Given the description of an element on the screen output the (x, y) to click on. 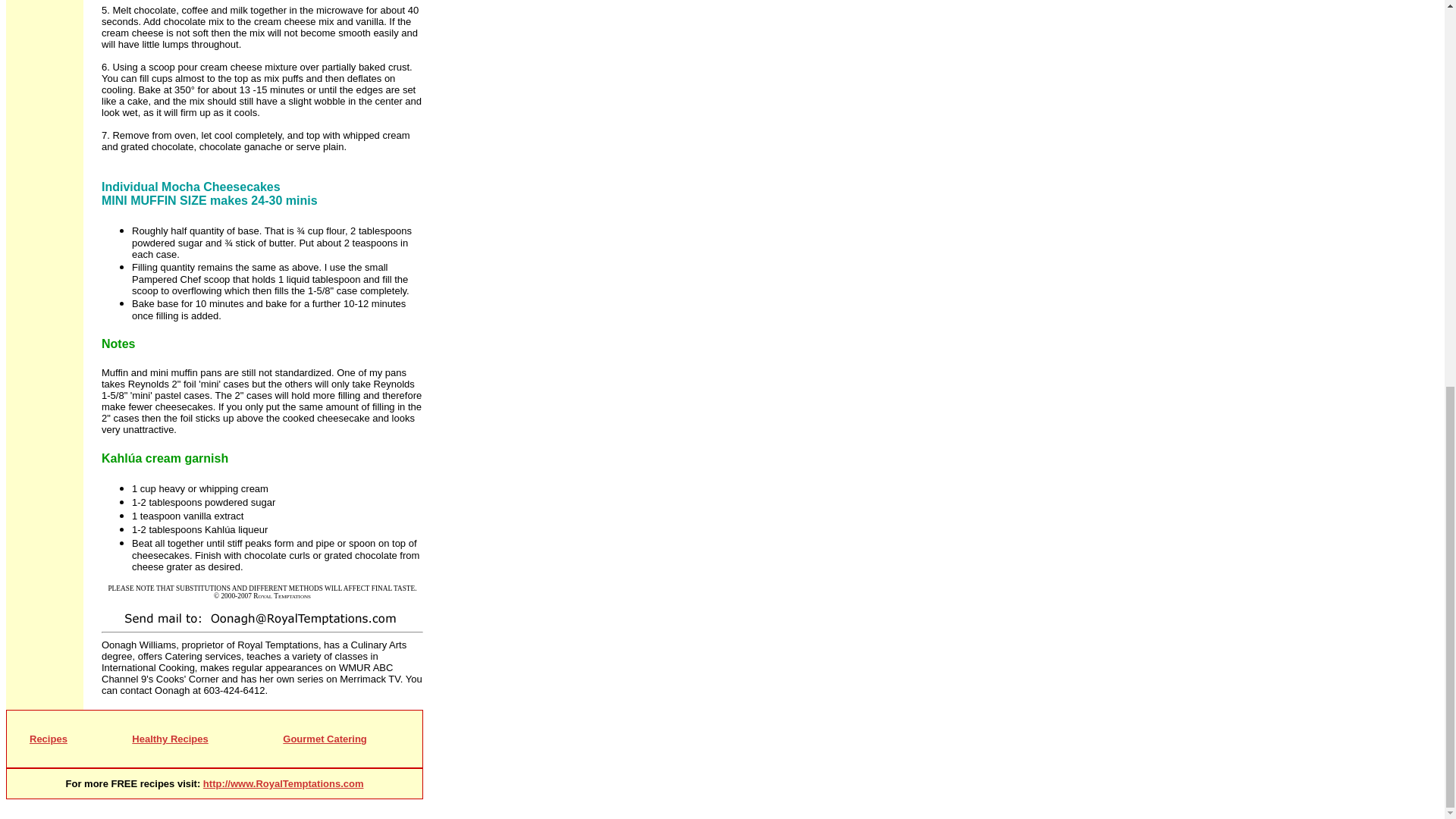
Gourmet Catering (324, 738)
Recipes (47, 738)
Healthy Recipes (170, 738)
